Given the description of an element on the screen output the (x, y) to click on. 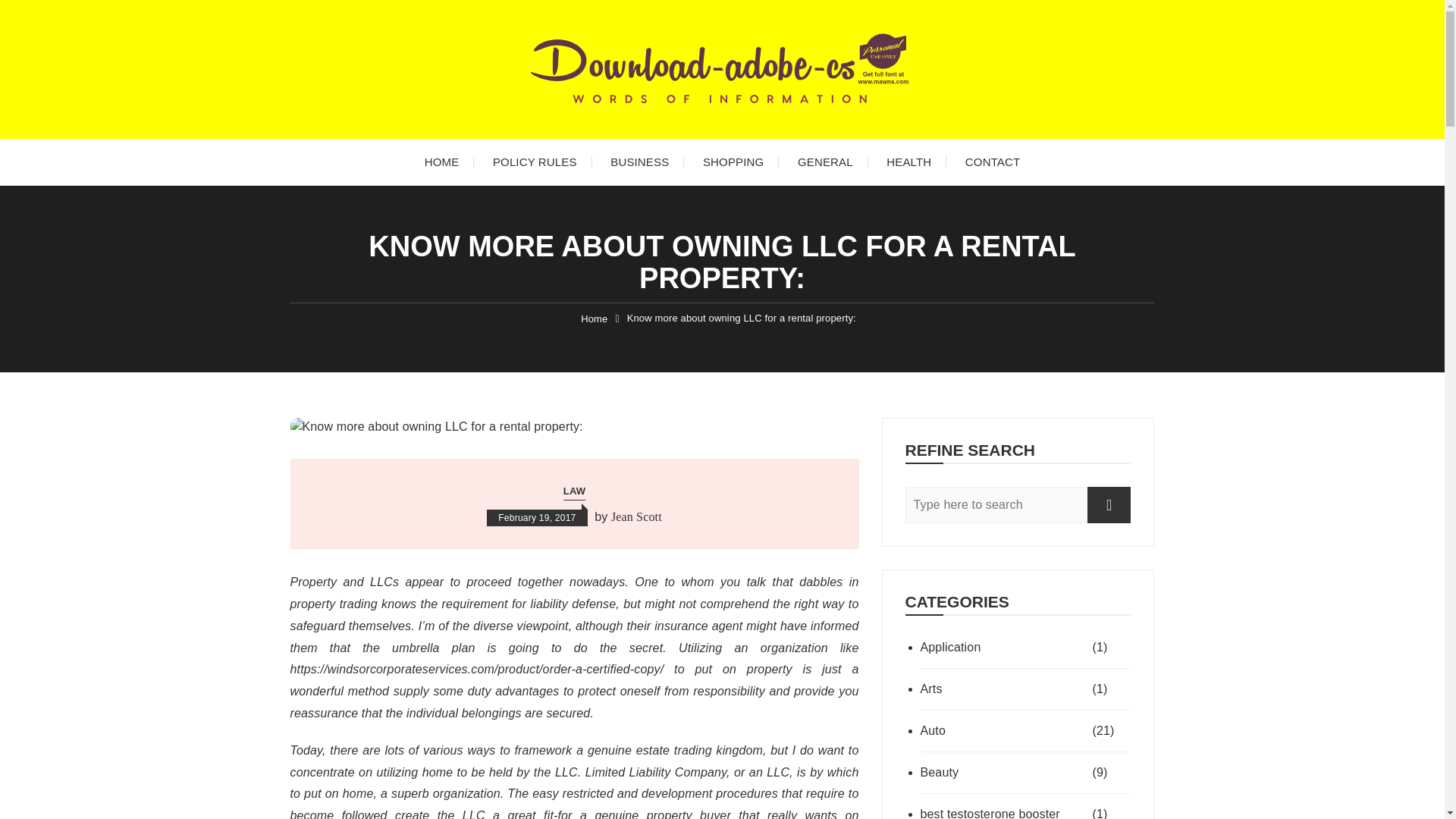
Beauty (1004, 772)
Home (593, 319)
best testosterone booster (1004, 812)
LAW (574, 492)
Know more about owning LLC for a rental property: (741, 318)
CONTACT (992, 162)
POLICY RULES (534, 162)
GENERAL (825, 162)
SHOPPING (732, 162)
HEALTH (908, 162)
